Given the description of an element on the screen output the (x, y) to click on. 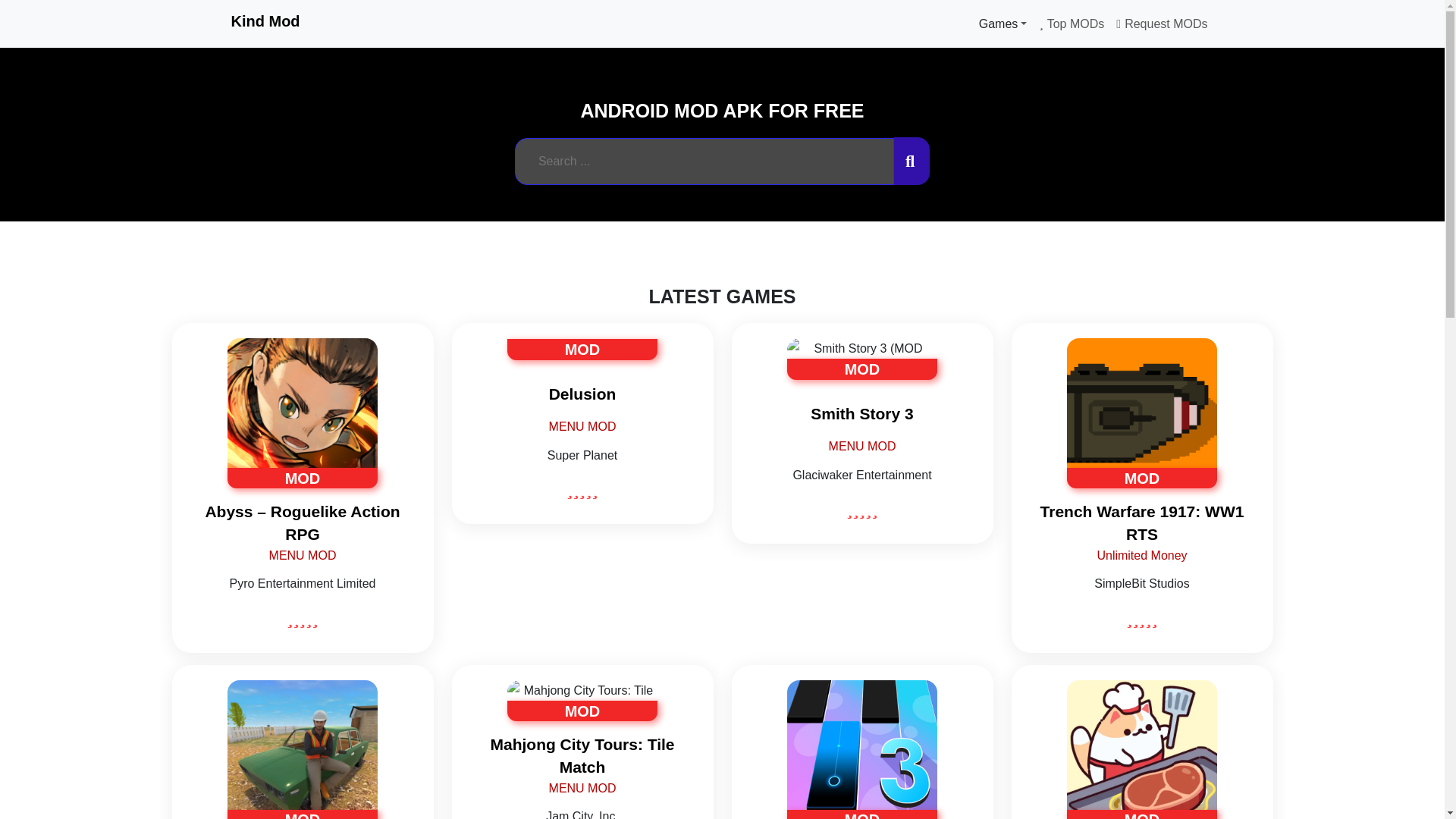
Kind Mod (264, 21)
Trench Warfare 1917: WW1 RTS (1141, 522)
Smith Story 3 (860, 522)
Games (1002, 23)
Request MODs (1160, 23)
Top MODs (1070, 23)
Delusion (582, 522)
